Given the description of an element on the screen output the (x, y) to click on. 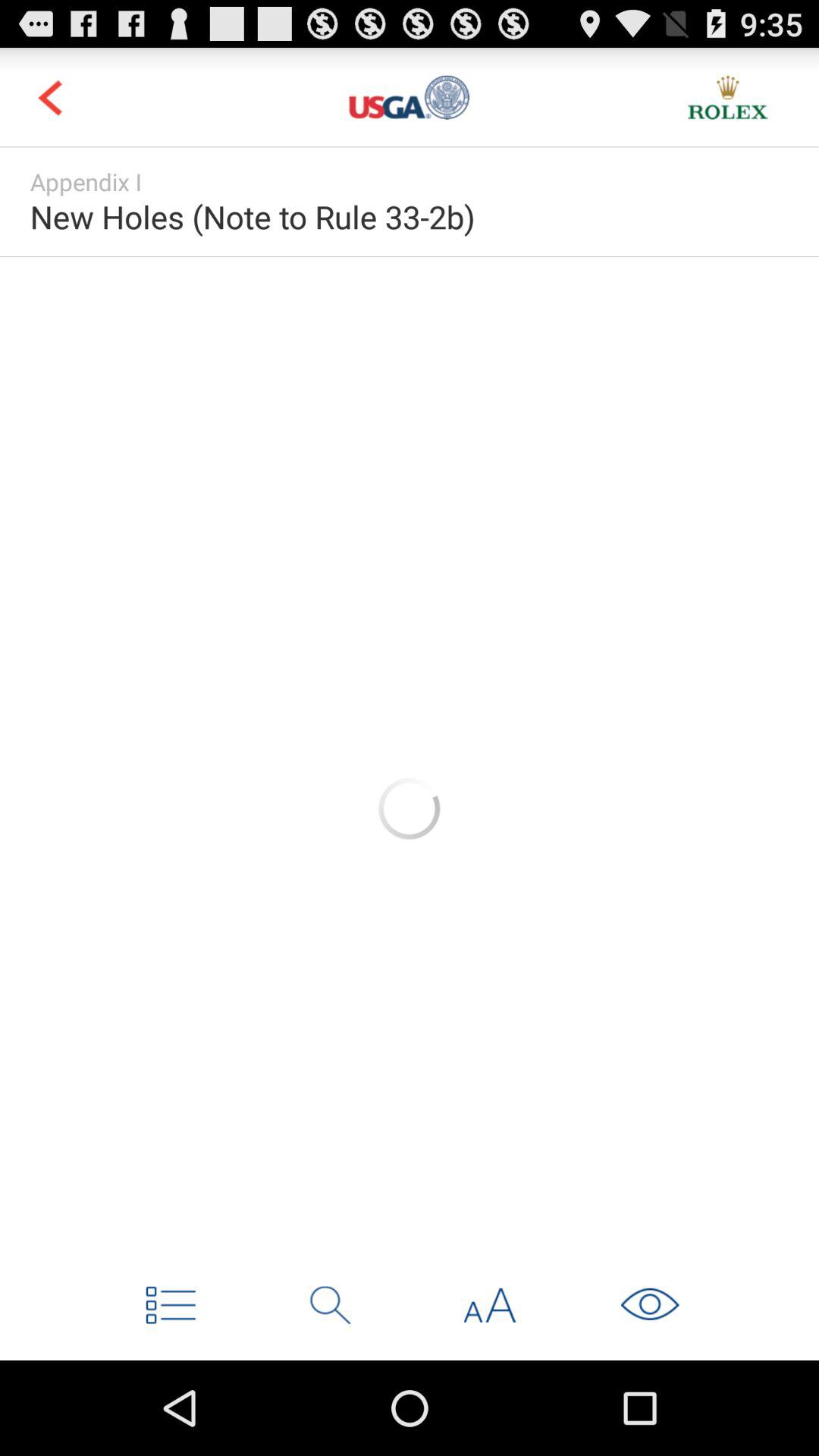
advertisement for rolex (728, 97)
